Given the description of an element on the screen output the (x, y) to click on. 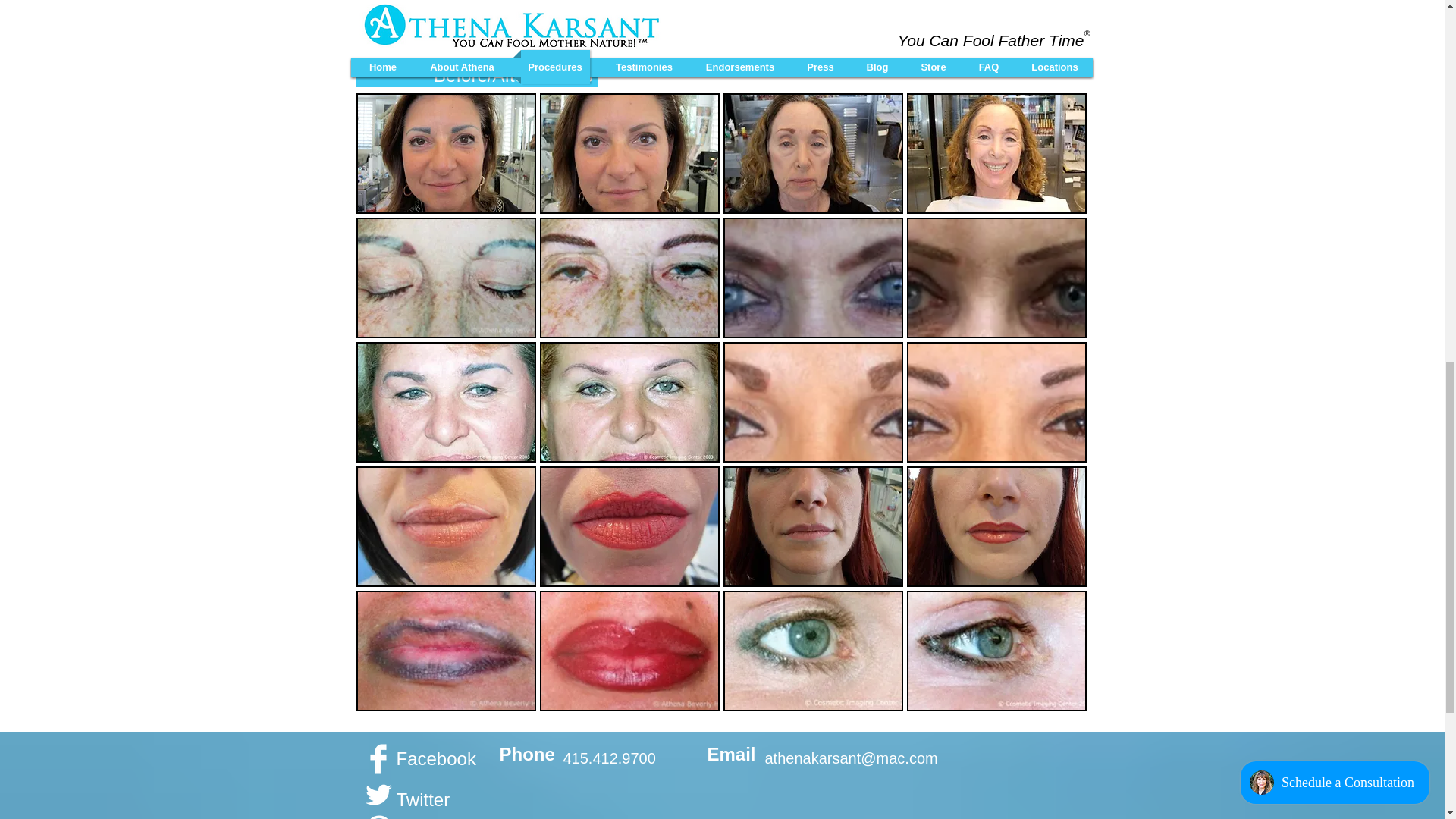
Google Maps (796, 802)
